Given the description of an element on the screen output the (x, y) to click on. 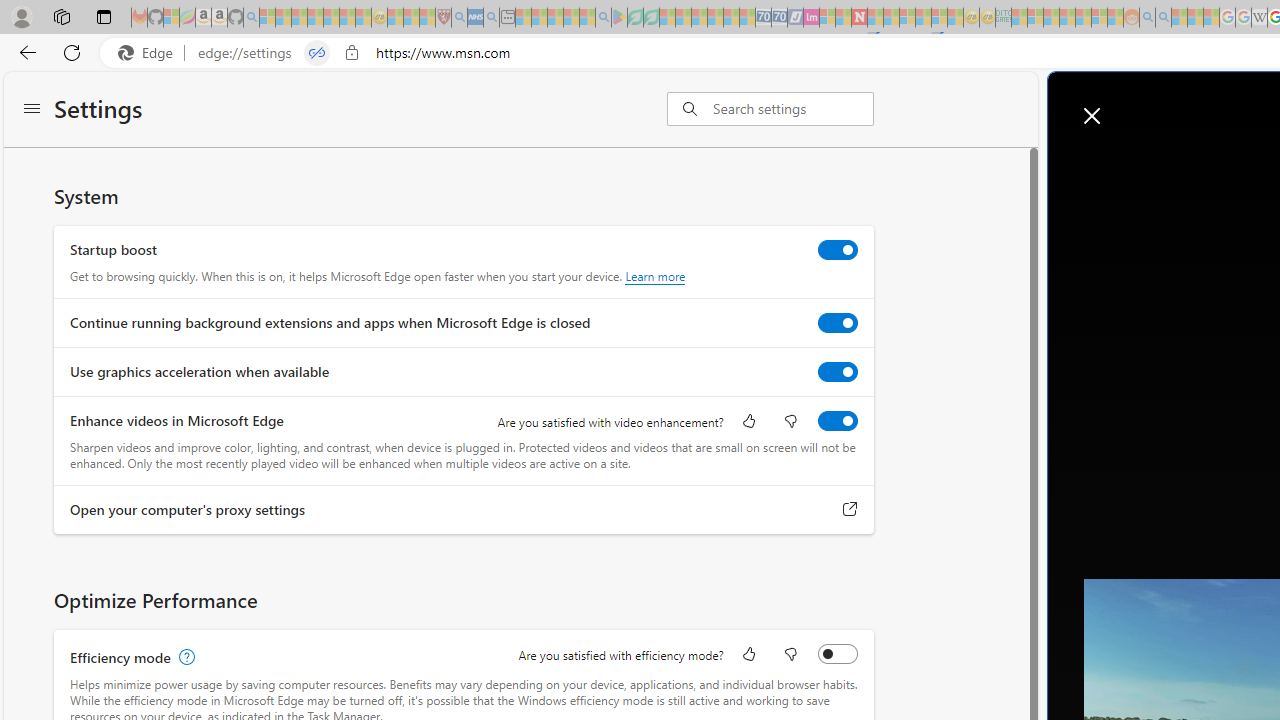
Tabs in split screen (317, 53)
